Given the description of an element on the screen output the (x, y) to click on. 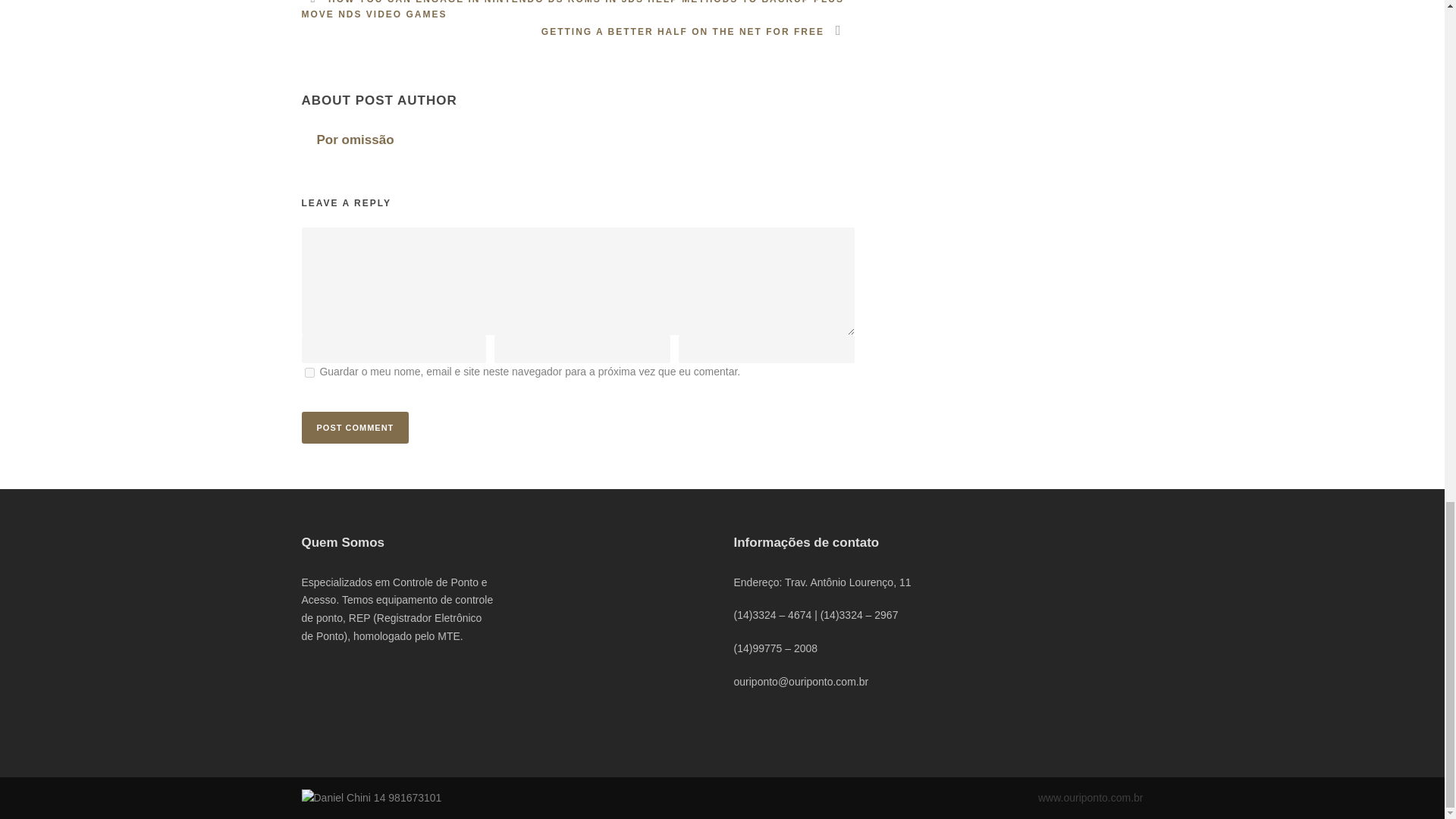
yes (309, 372)
GETTING A BETTER HALF ON THE NET FOR FREE (698, 31)
Post Comment (355, 427)
